Given the description of an element on the screen output the (x, y) to click on. 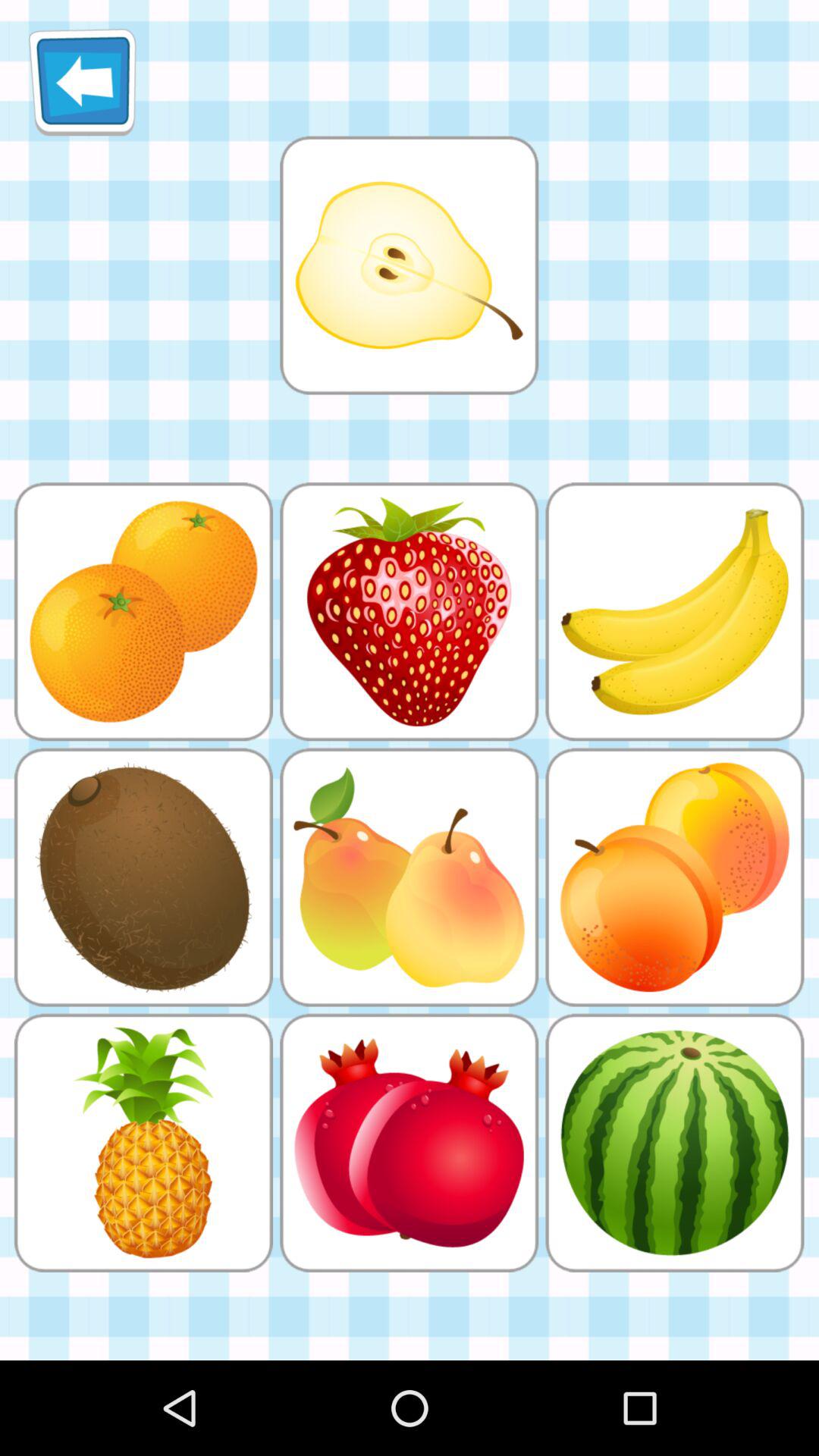
click to view image (409, 265)
